Given the description of an element on the screen output the (x, y) to click on. 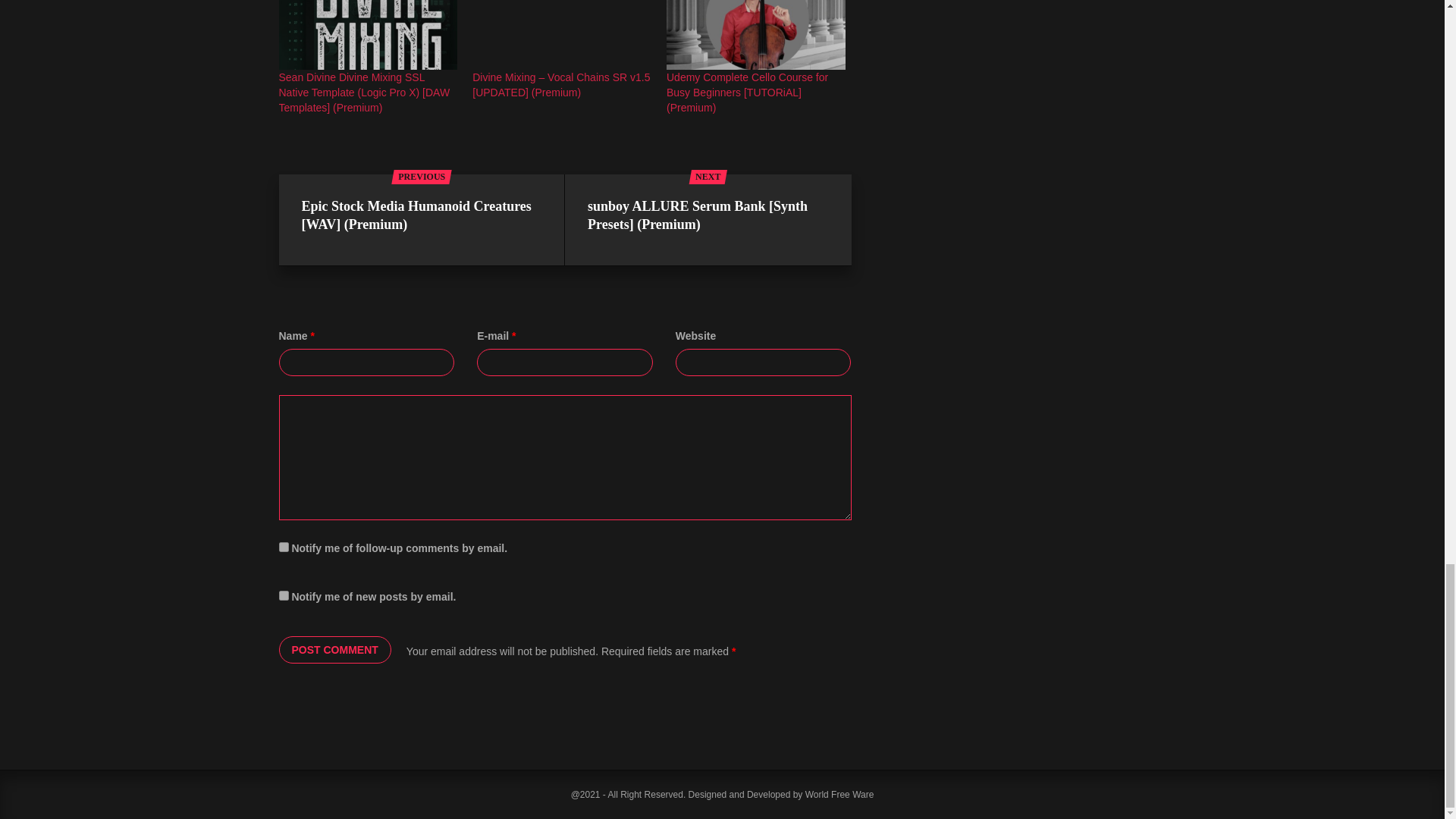
subscribe (283, 547)
subscribe (283, 595)
Post comment (335, 649)
